Given the description of an element on the screen output the (x, y) to click on. 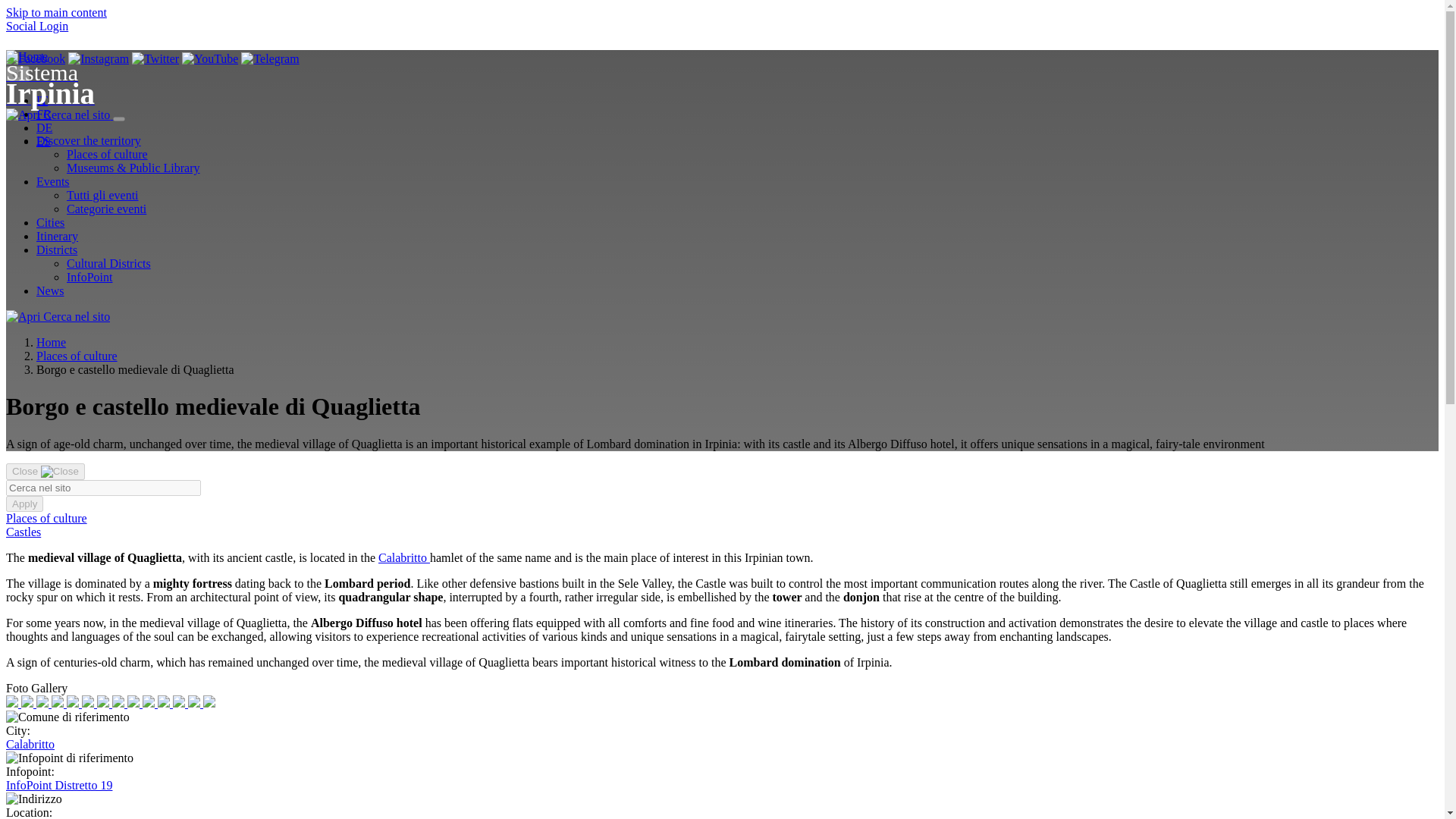
Skip to main content (55, 11)
Discover the territory (88, 140)
News (50, 290)
Cities (50, 222)
InfoPoint (89, 277)
en (17, 73)
Events (52, 181)
Itinerary (57, 236)
Skip to main content (55, 11)
DE (44, 127)
Comuni dell'Irpinia (50, 222)
Social Login (36, 25)
Calabritto (403, 557)
Categorie eventi (106, 208)
Places of culture (76, 355)
